Given the description of an element on the screen output the (x, y) to click on. 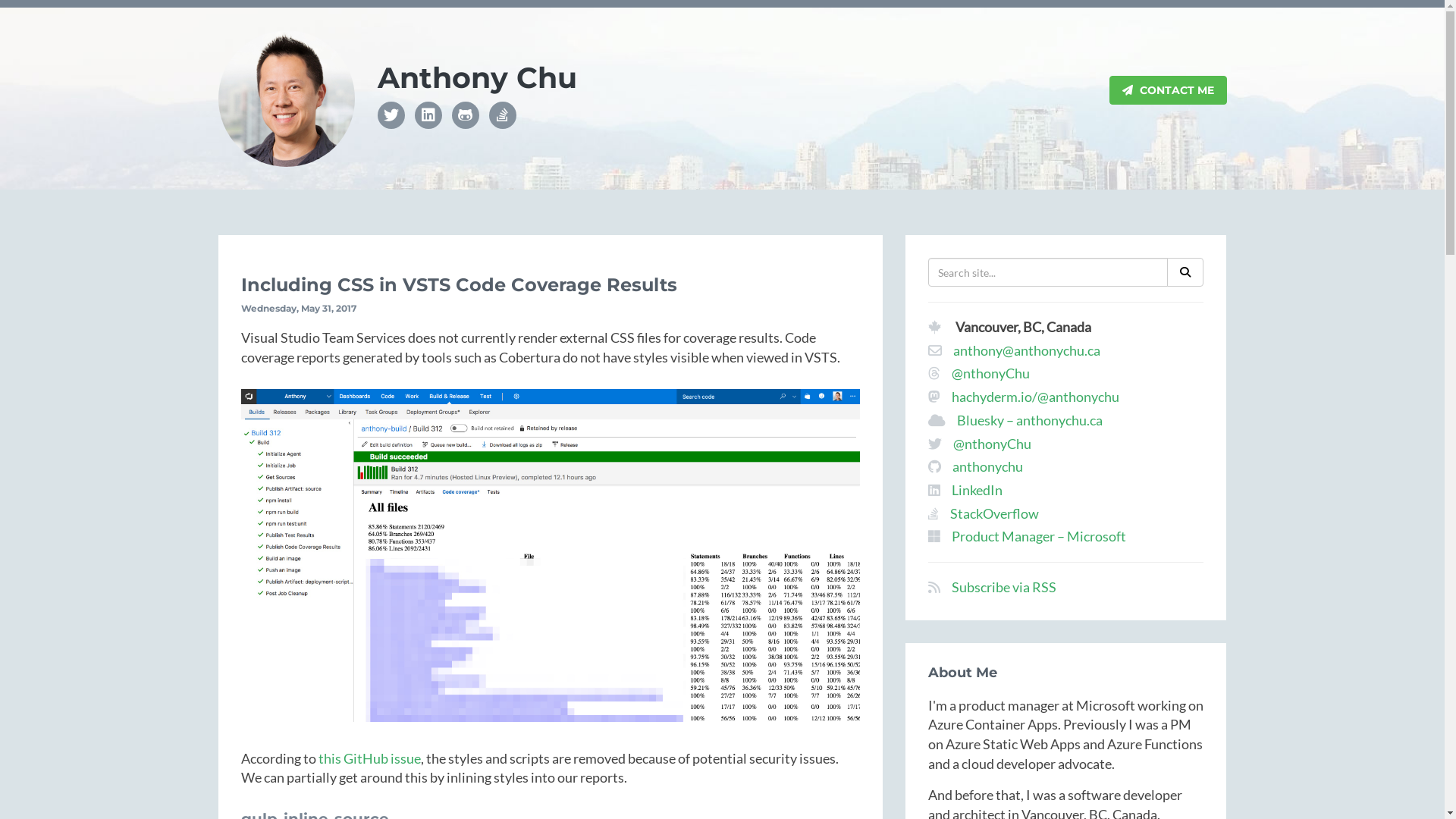
LinkedIn Element type: text (976, 489)
anthonychu Element type: text (987, 466)
CONTACT ME Element type: text (1167, 89)
@nthonyChu Element type: text (992, 443)
StackOverflow Element type: text (994, 513)
Anthony Chu Element type: text (477, 78)
hachyderm.io/@anthonychu Element type: text (1035, 396)
anthony@anthonychu.ca Element type: text (1026, 350)
this GitHub issue Element type: text (369, 757)
@nthonyChu Element type: text (990, 372)
Subscribe via RSS Element type: text (1003, 586)
Including CSS in VSTS Code Coverage Results Element type: text (459, 284)
